Given the description of an element on the screen output the (x, y) to click on. 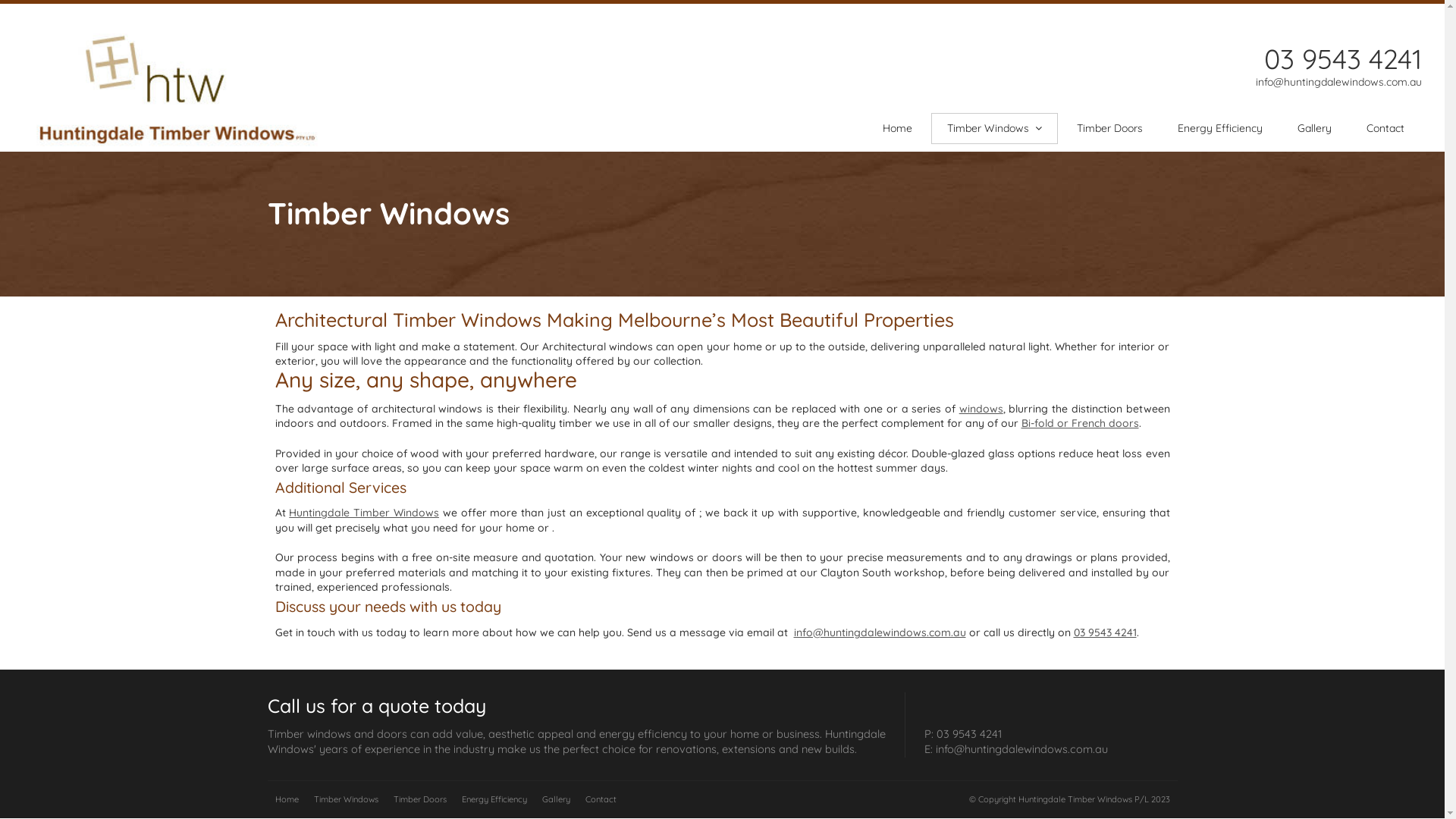
windows Element type: text (981, 408)
info@huntingdalewindows.com.au Element type: text (1329, 81)
Timber Doors Element type: text (1109, 128)
Bi-fold or French doors Element type: text (1079, 422)
E: info@huntingdalewindows.com.au Element type: text (1015, 748)
Gallery Element type: text (555, 799)
Contact Element type: text (1385, 128)
Timber Windows Element type: text (345, 799)
Huntingdale Timber Windows Element type: text (363, 512)
Gallery Element type: text (1314, 128)
Energy Efficiency Element type: text (493, 799)
Home Element type: text (897, 128)
Timber Doors Element type: text (419, 799)
03 9543 4241 Element type: text (1104, 632)
Contact Element type: text (600, 799)
Timber Windows Element type: text (994, 128)
Timber Windows Element type: text (387, 213)
Home Element type: text (285, 799)
Energy Efficiency Element type: text (1219, 128)
info@huntingdalewindows.com.au Element type: text (879, 632)
